Given the description of an element on the screen output the (x, y) to click on. 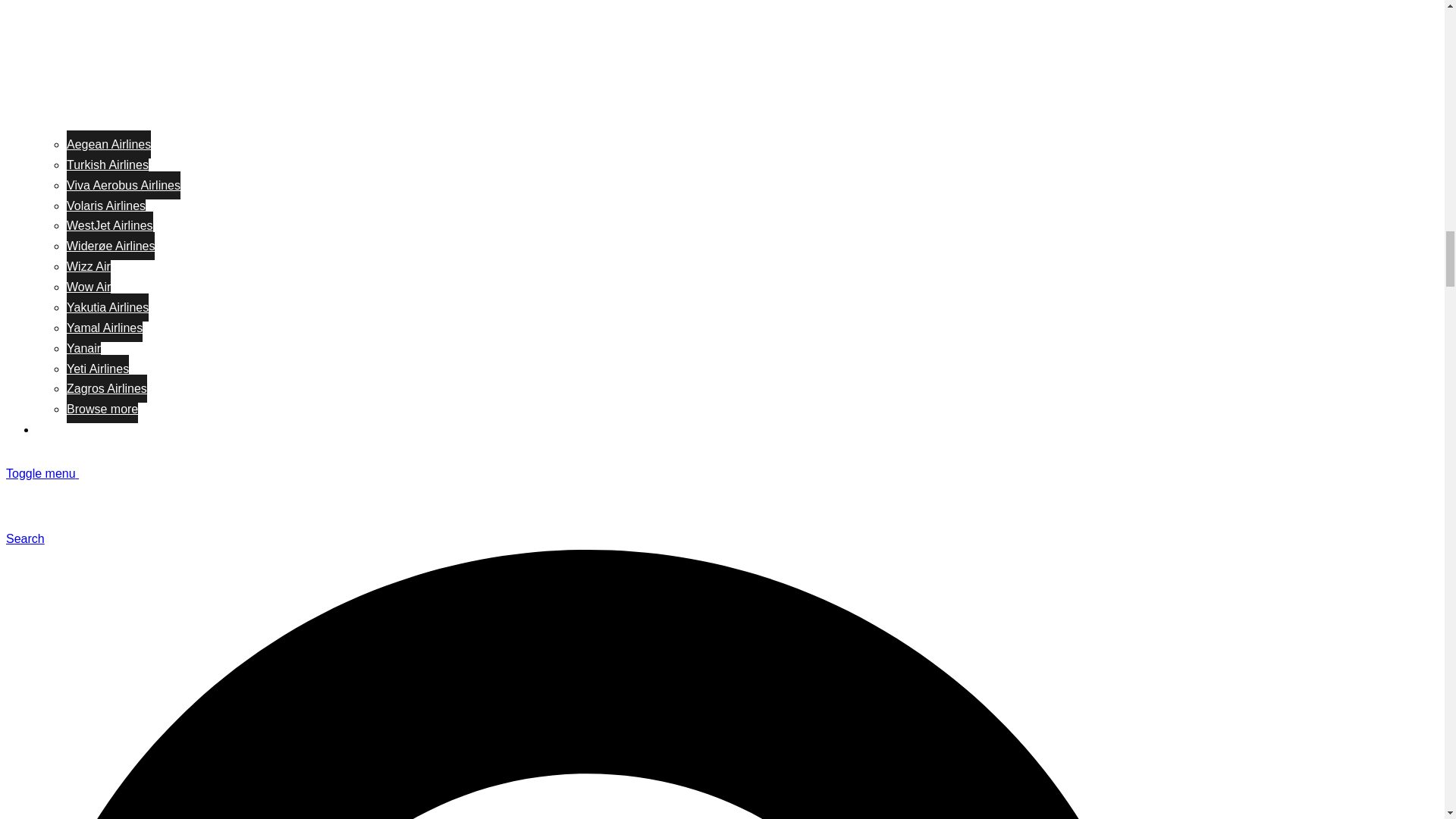
Turkish Airlines (107, 164)
Volaris Airlines (105, 204)
Zagros Airlines (106, 388)
airports-terminal.com (186, 517)
Toggle menu (47, 472)
Yamal Airlines (104, 327)
Yeti Airlines (97, 368)
Wizz Air (88, 266)
WestJet Airlines (109, 225)
Yakutia Airlines (107, 307)
Yanair (83, 348)
Wow Air (88, 286)
Browse more (102, 408)
Viva Aerobus Airlines (123, 185)
Aegean Airlines (108, 144)
